Given the description of an element on the screen output the (x, y) to click on. 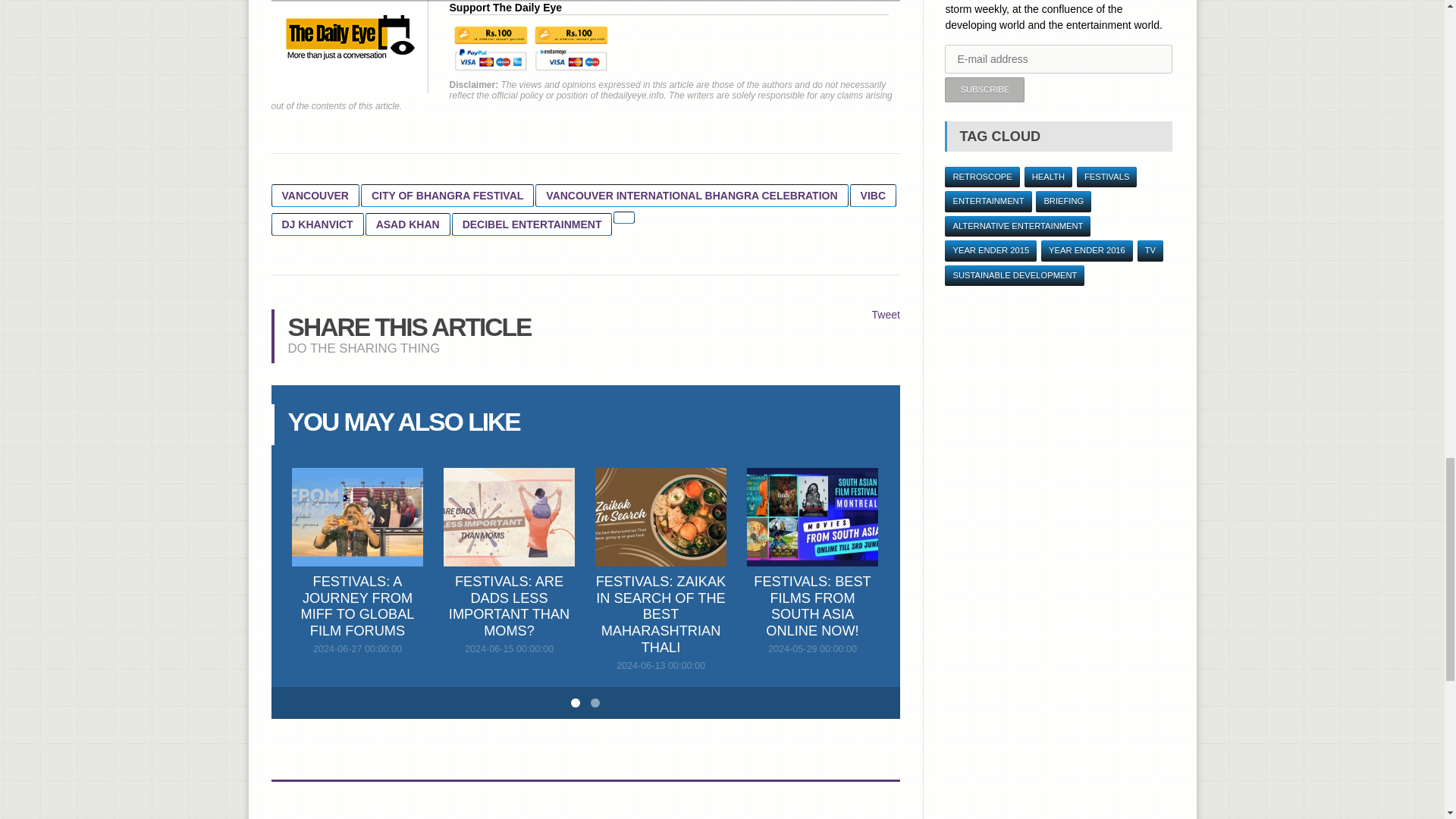
Subscribe (984, 89)
